Given the description of an element on the screen output the (x, y) to click on. 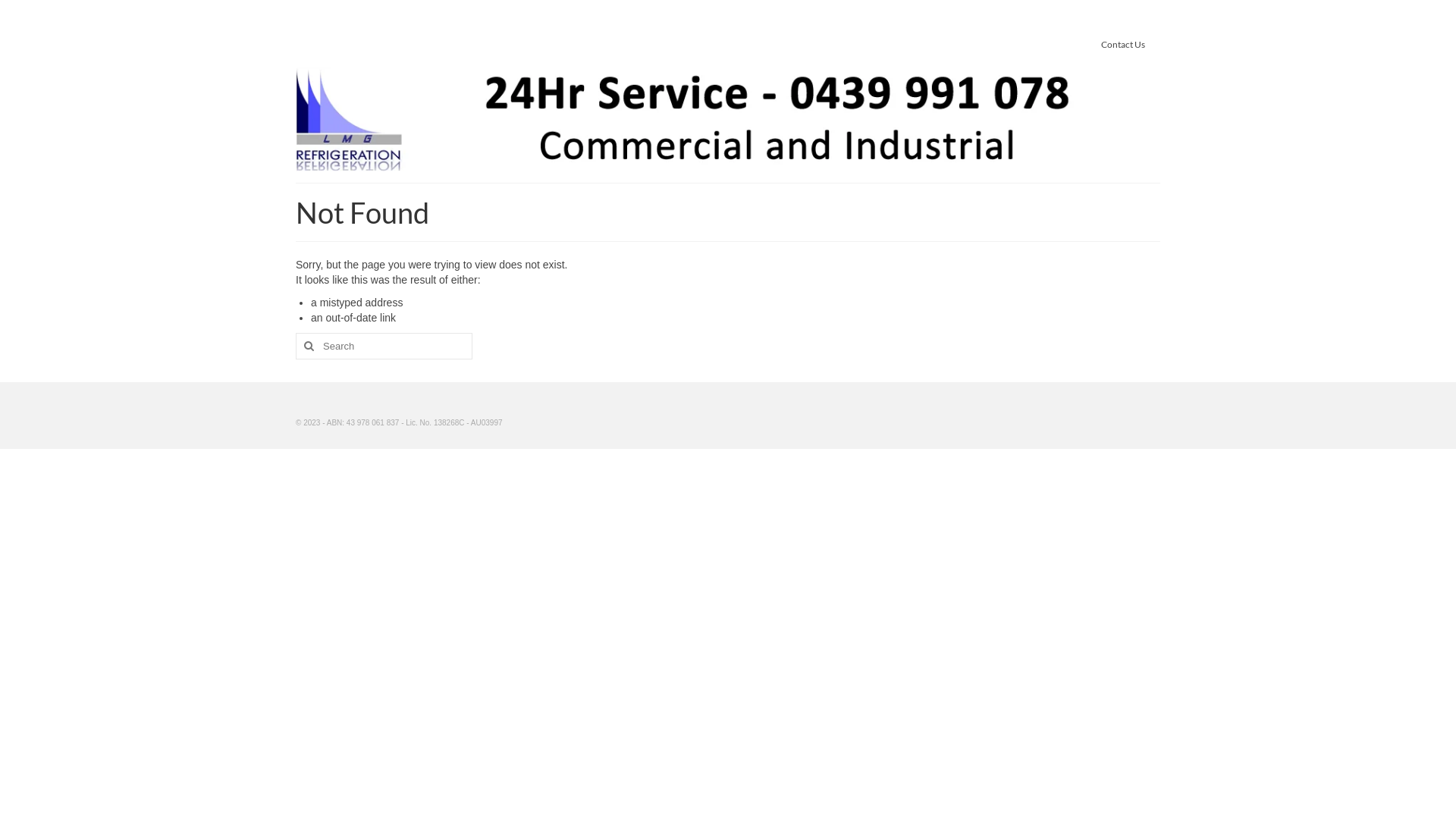
Contact Us Element type: text (1122, 44)
